Given the description of an element on the screen output the (x, y) to click on. 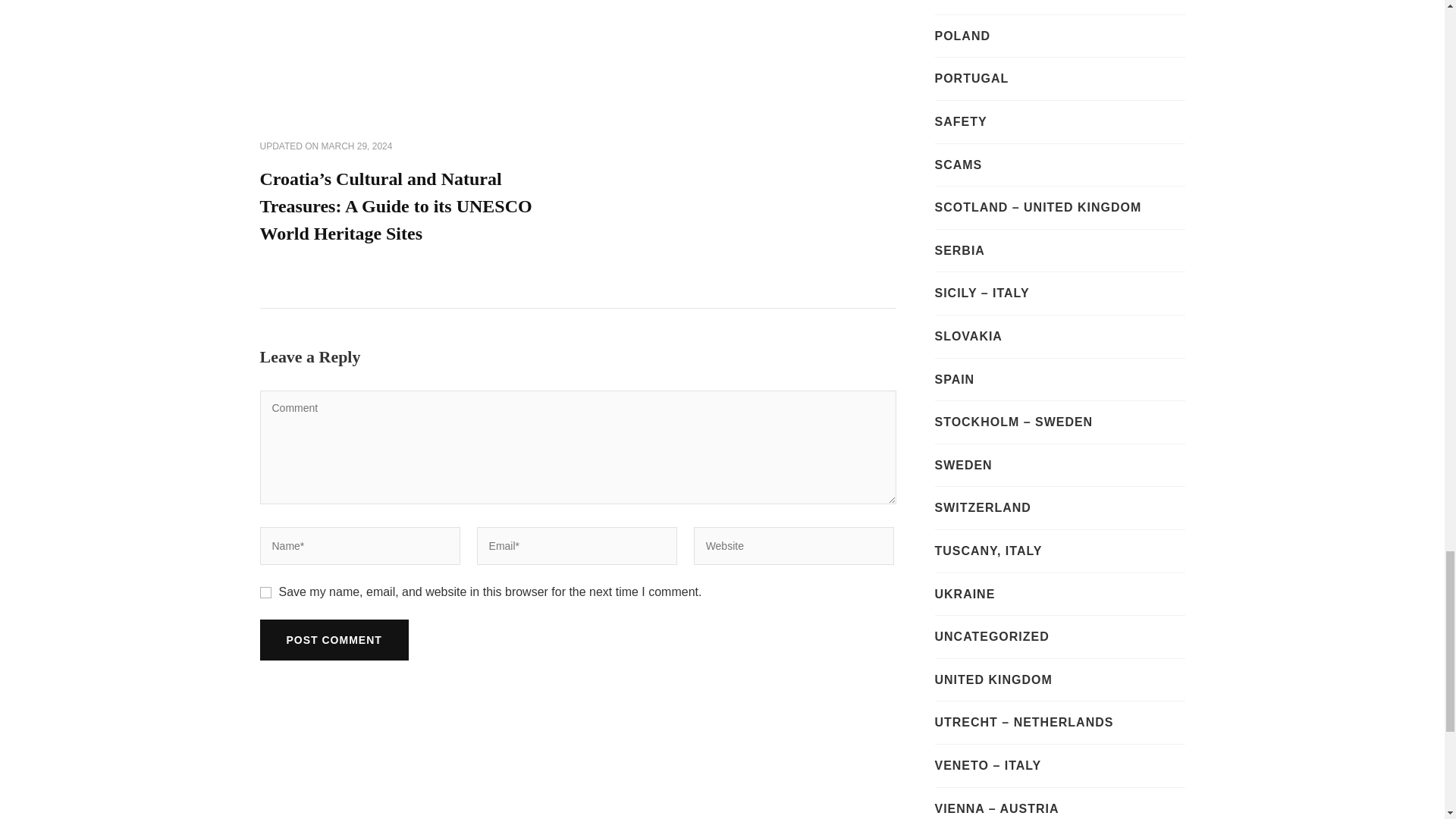
MARCH 29, 2024 (357, 146)
Post Comment (333, 639)
Post Comment (333, 639)
